Given the description of an element on the screen output the (x, y) to click on. 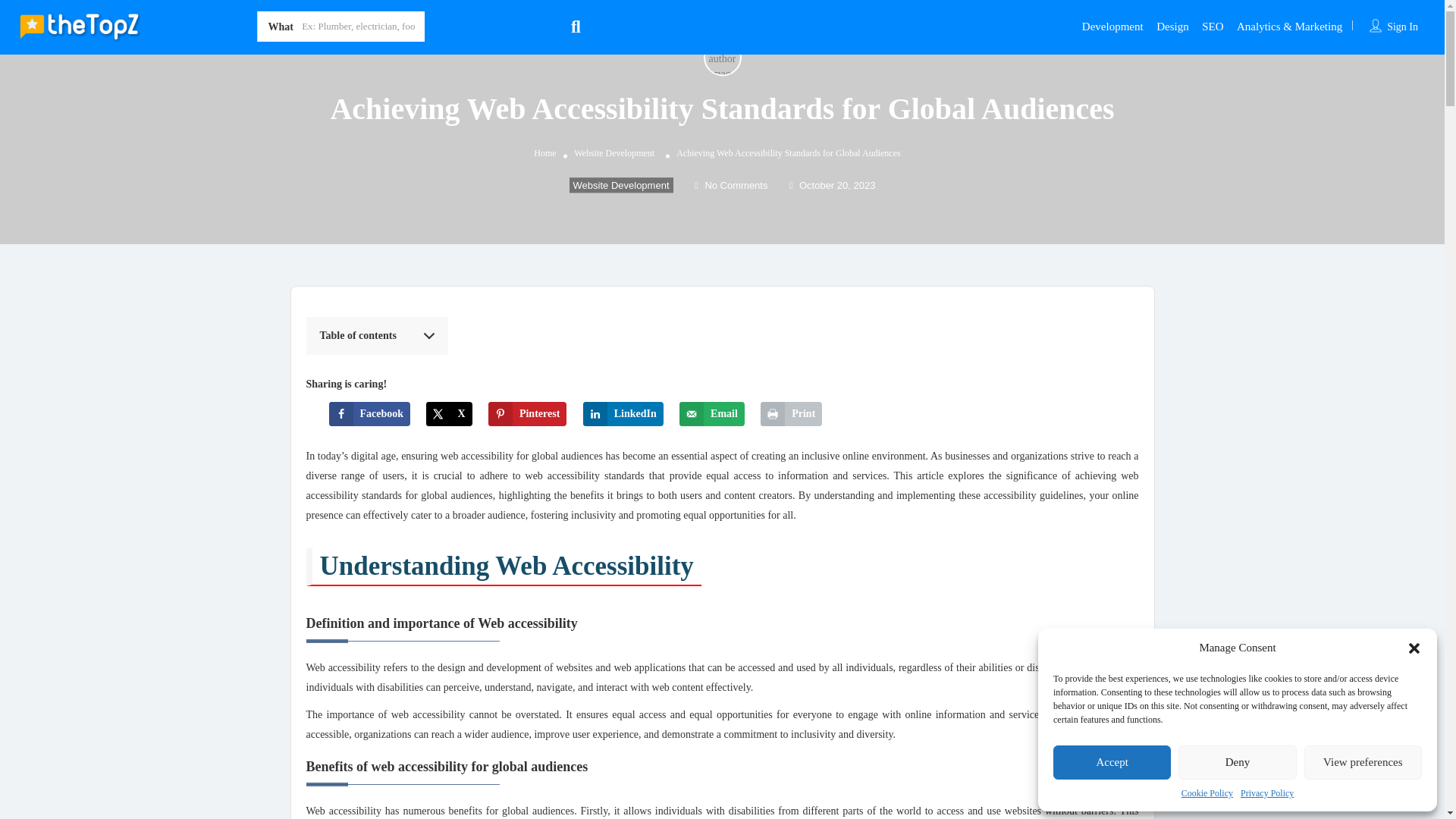
No Comments (730, 184)
Privacy Policy (1267, 793)
Website Development (620, 184)
Accept (1111, 762)
Deny (1236, 762)
Development (1111, 25)
Sign In (1402, 26)
SEO (1212, 25)
View preferences (1363, 762)
Design (1172, 25)
Home (545, 153)
Cookie Policy (1206, 793)
Website Development (613, 153)
